Given the description of an element on the screen output the (x, y) to click on. 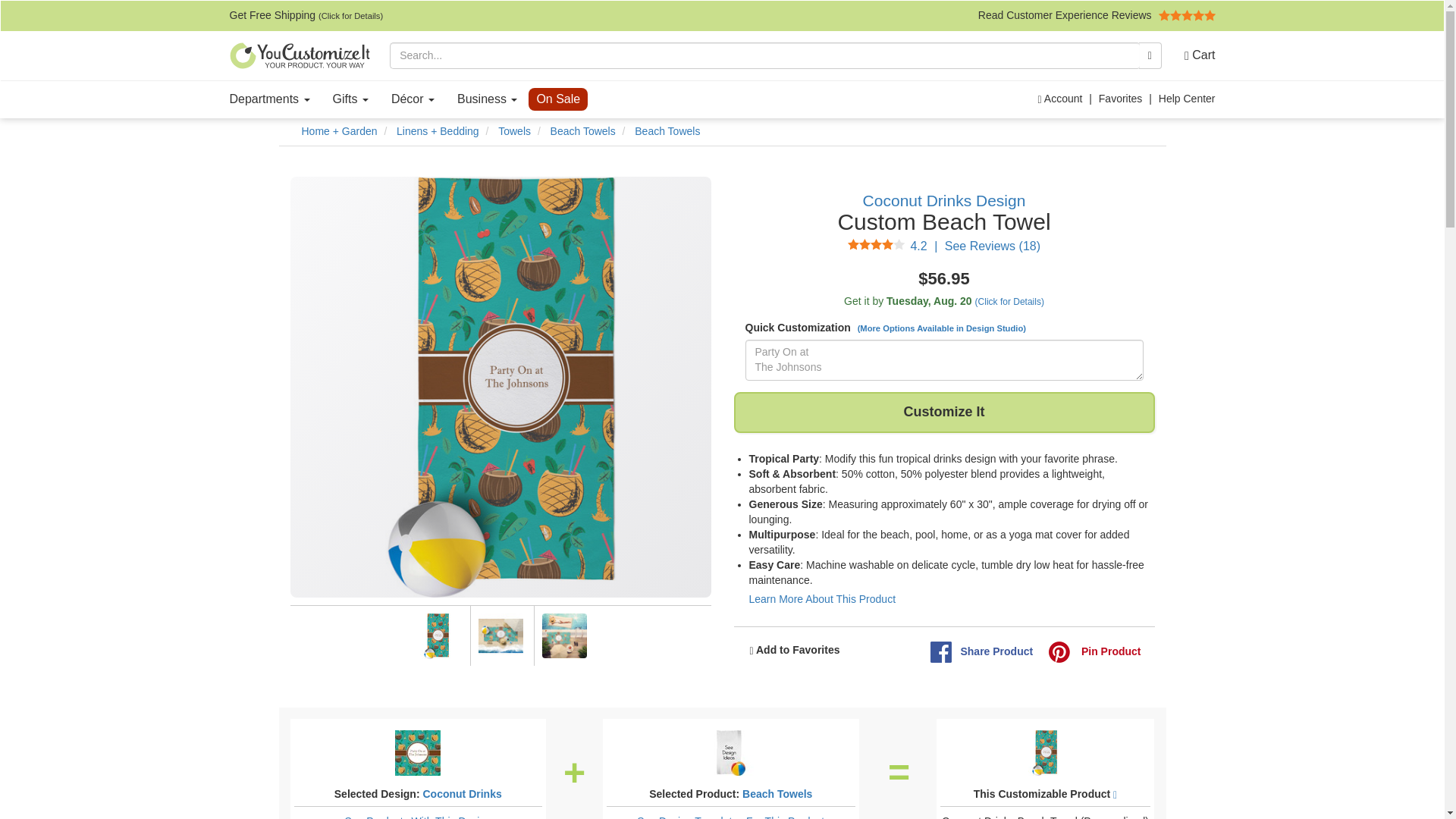
Calculate Shipping (943, 301)
Read Customer Experience Reviews (1096, 15)
Departments (269, 99)
Cart (1194, 55)
Business (486, 99)
Gifts (350, 99)
Learn More About This Product (822, 598)
